Given the description of an element on the screen output the (x, y) to click on. 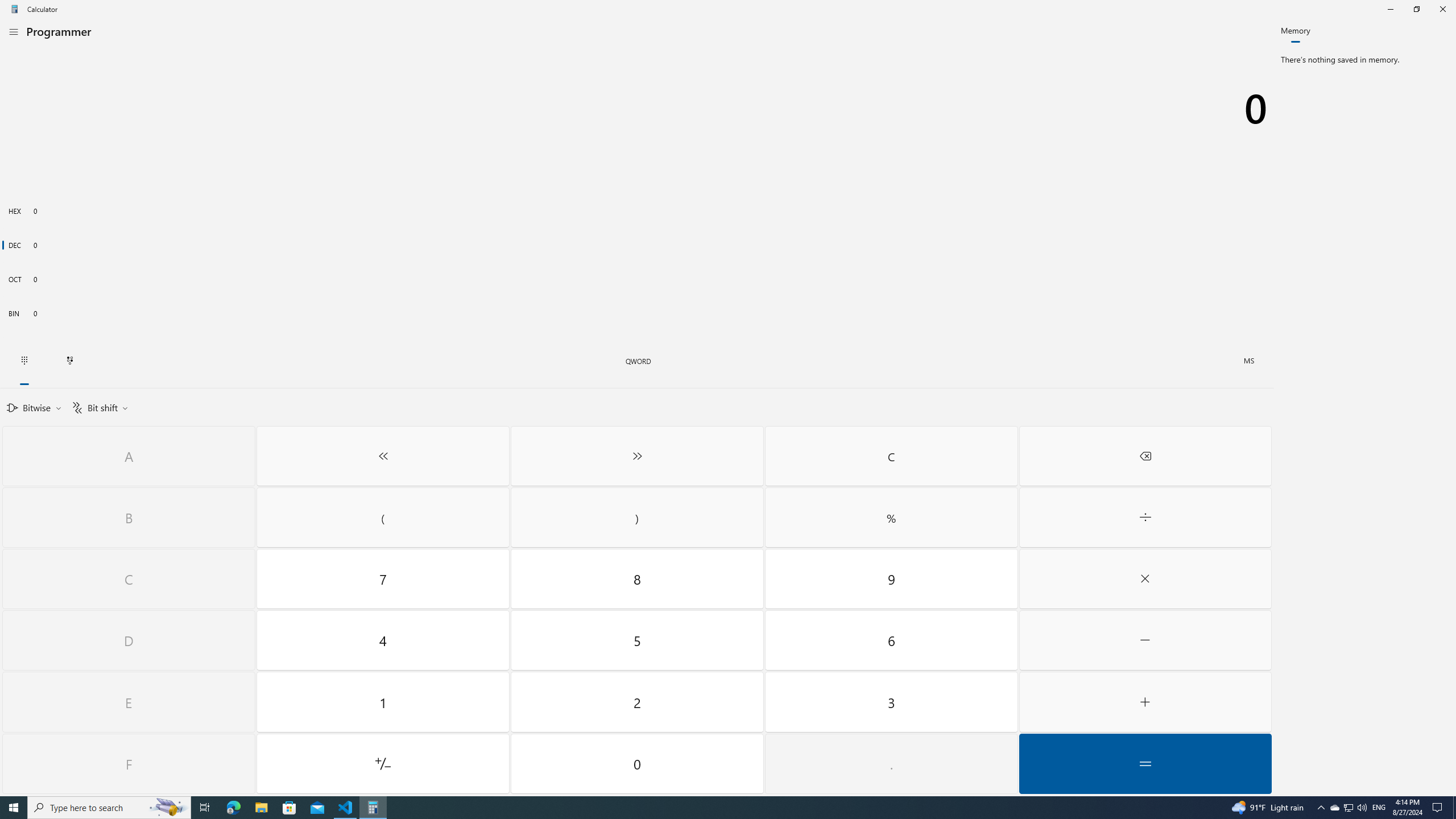
Plus (1145, 701)
B (128, 517)
Positive negative (1333, 807)
C (382, 763)
Six (128, 578)
Open Navigation (890, 640)
File Explorer (13, 31)
Divide by (261, 807)
Full keypad (1145, 517)
Show desktop (24, 360)
Three (1454, 807)
Zero (890, 701)
Nine (637, 763)
